Given the description of an element on the screen output the (x, y) to click on. 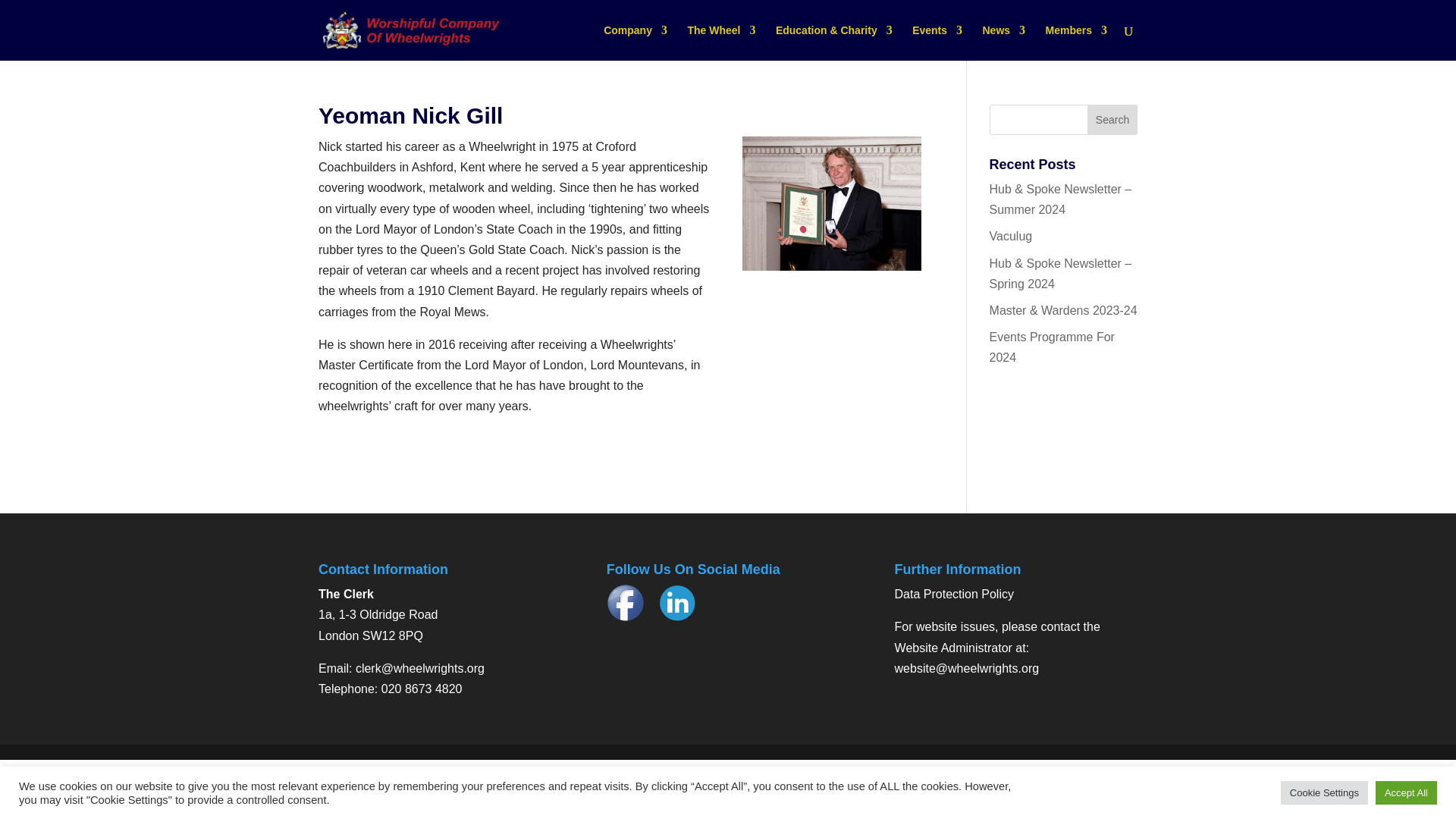
Search (1112, 119)
Yeoman Nick Gill with Certificate post body (831, 203)
Events (937, 42)
The Wheel (721, 42)
Company (635, 42)
News (1004, 42)
Members (1075, 42)
